Given the description of an element on the screen output the (x, y) to click on. 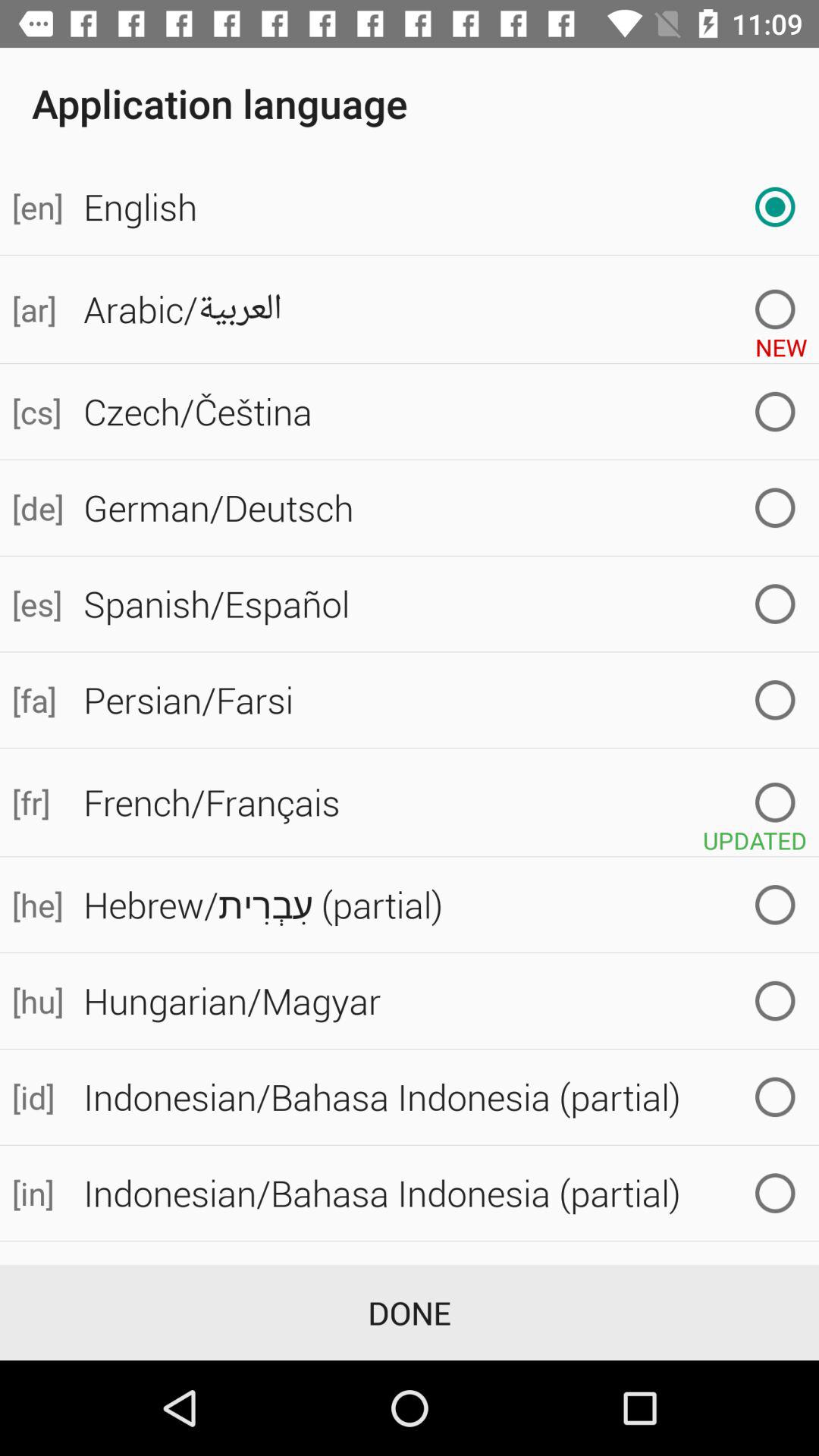
tap item below the application language item (35, 206)
